Given the description of an element on the screen output the (x, y) to click on. 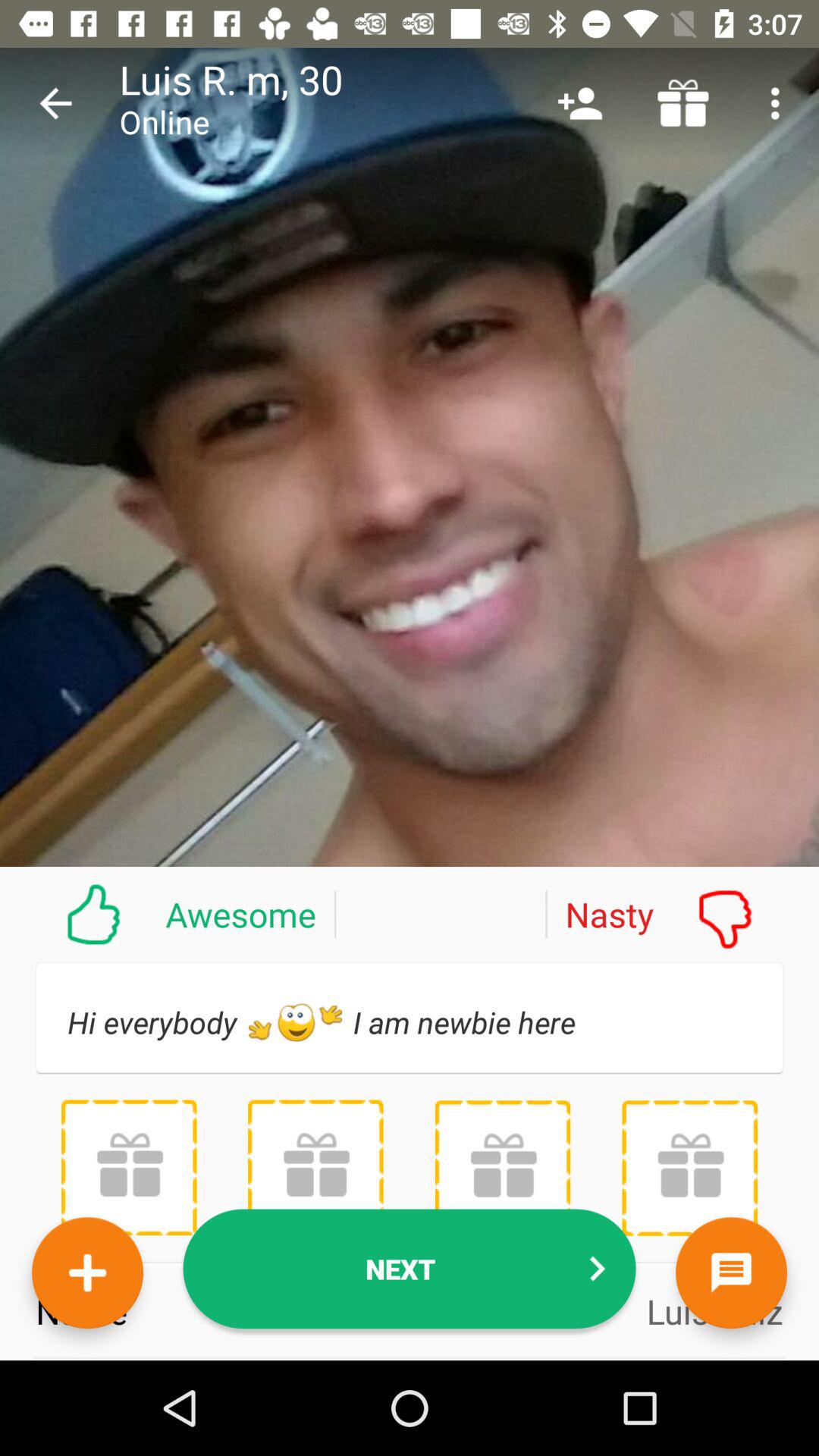
launch the item to the left of luis r. item (55, 103)
